Given the description of an element on the screen output the (x, y) to click on. 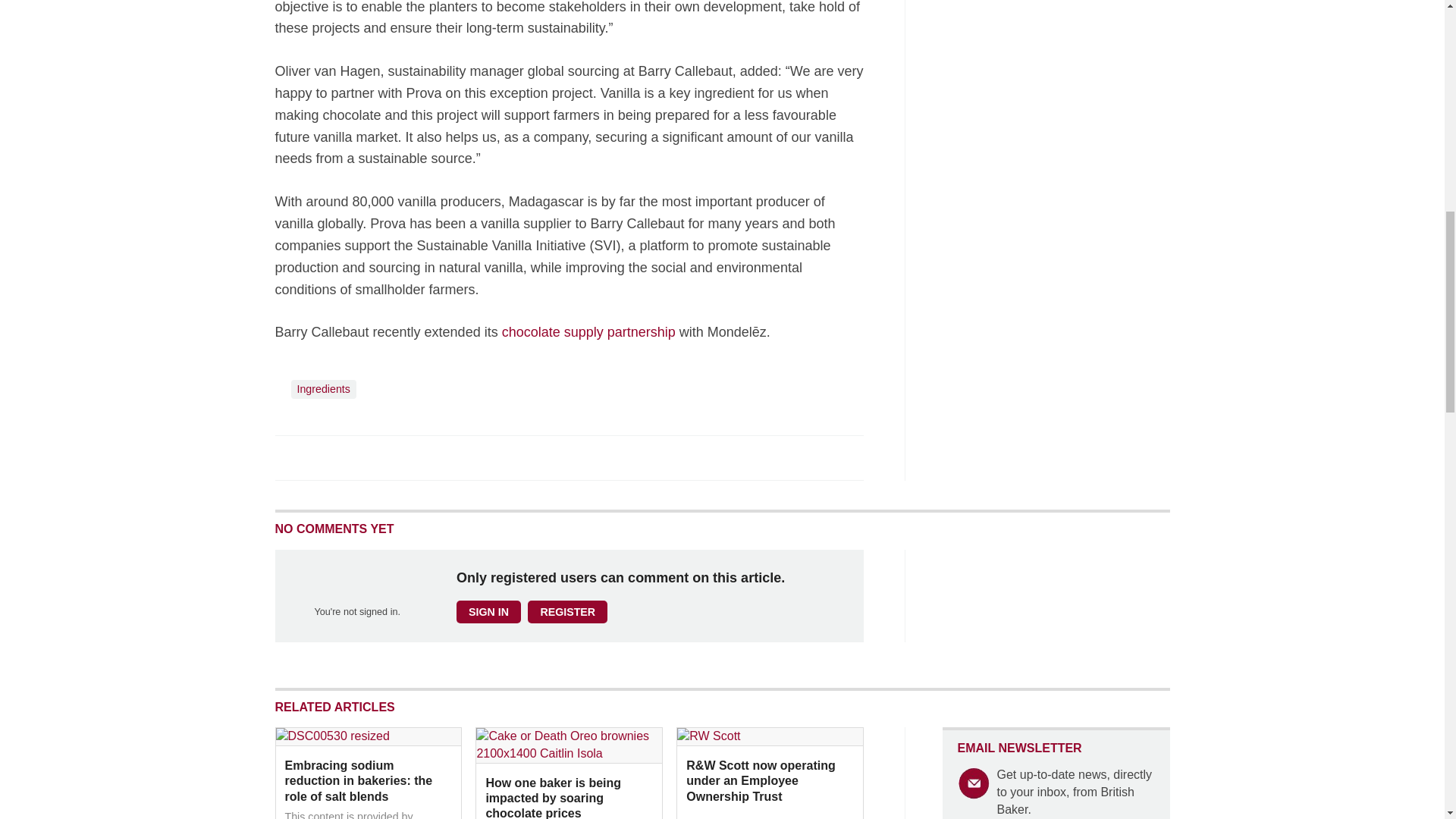
Share this on Facebook (288, 456)
Share this on Twitter (320, 456)
Email this article (386, 456)
Share this on Linked in (352, 456)
No comments (840, 466)
